Given the description of an element on the screen output the (x, y) to click on. 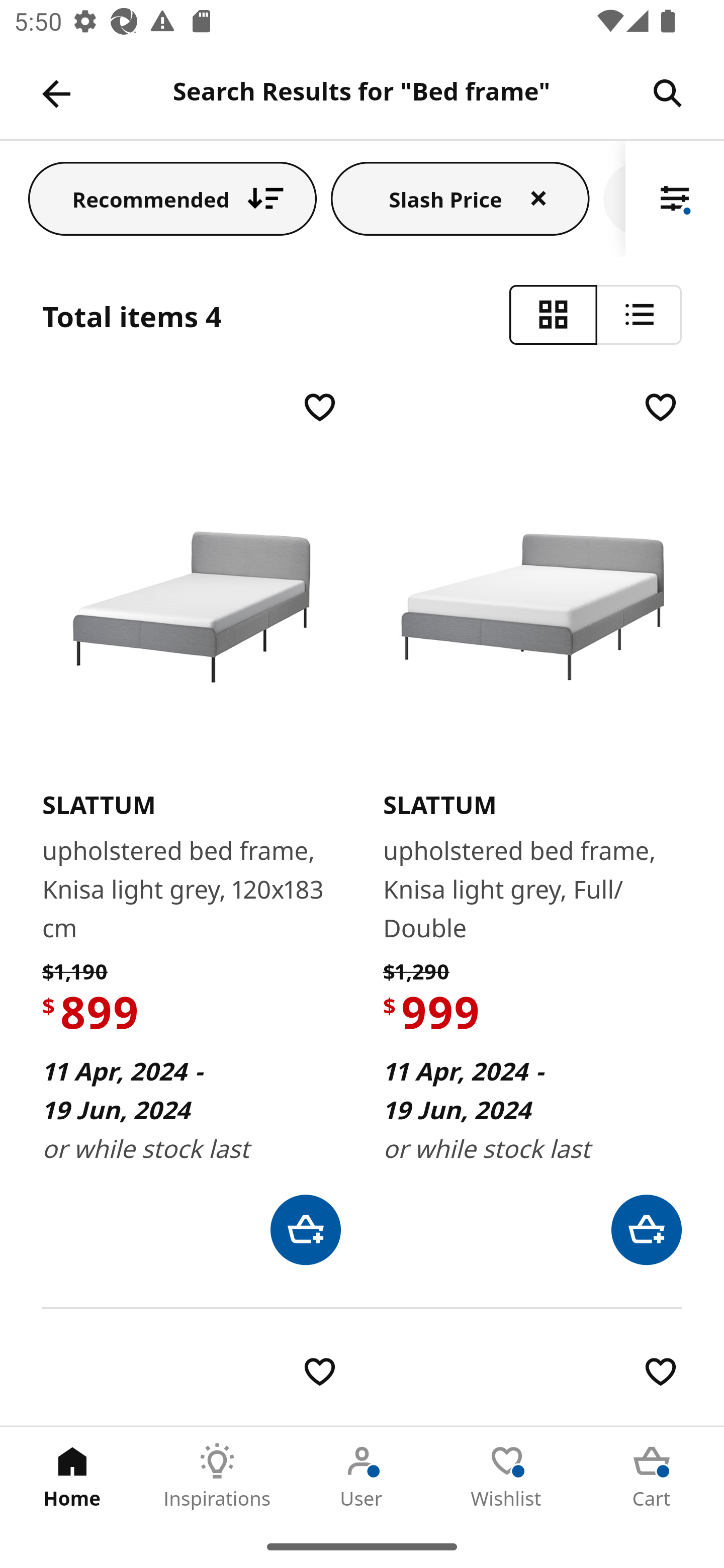
Recommended (172, 198)
Slash Price (460, 198)
Home
Tab 1 of 5 (72, 1476)
Inspirations
Tab 2 of 5 (216, 1476)
User
Tab 3 of 5 (361, 1476)
Wishlist
Tab 4 of 5 (506, 1476)
Cart
Tab 5 of 5 (651, 1476)
